Given the description of an element on the screen output the (x, y) to click on. 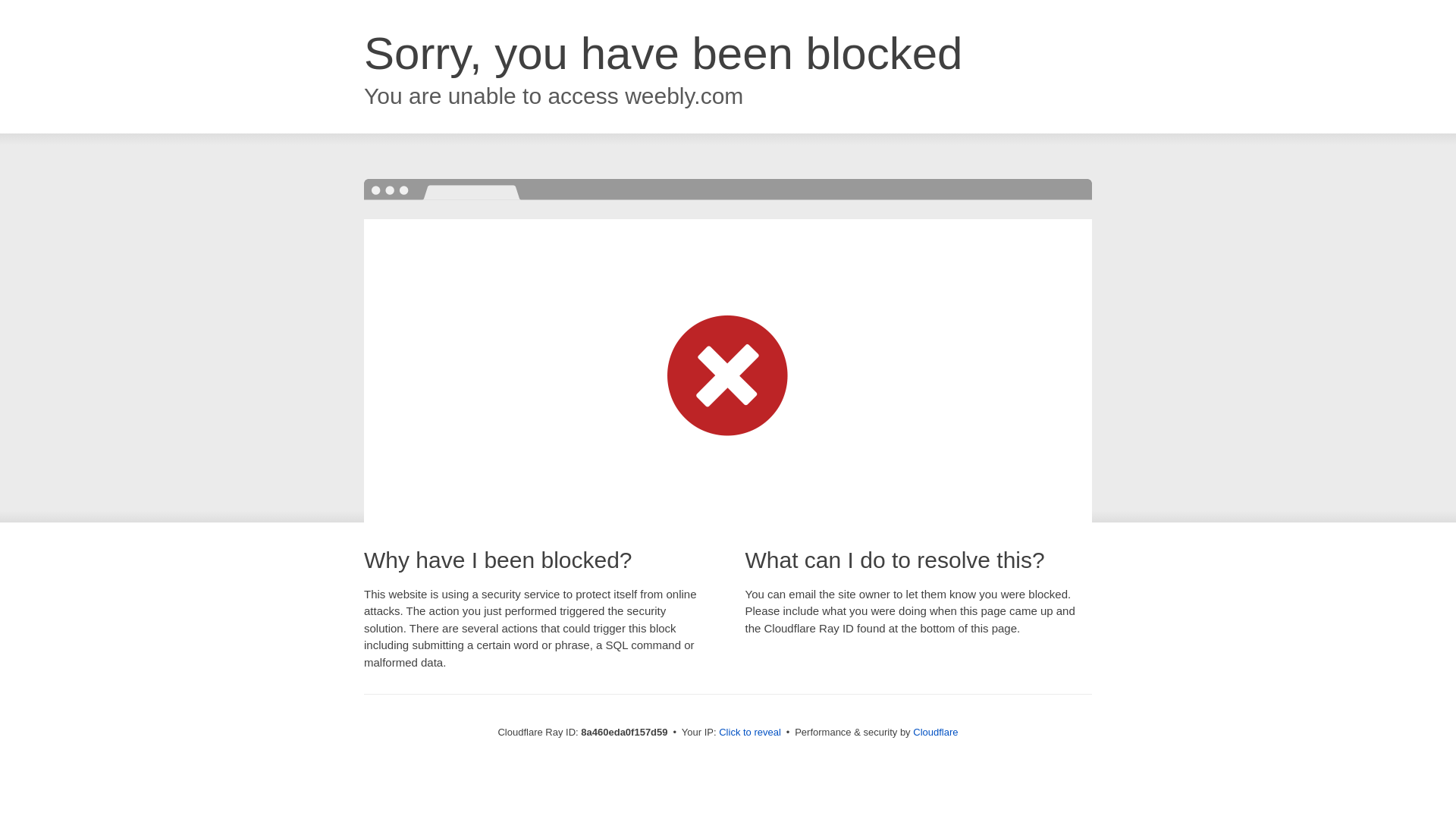
Click to reveal (749, 732)
Cloudflare (935, 731)
